Given the description of an element on the screen output the (x, y) to click on. 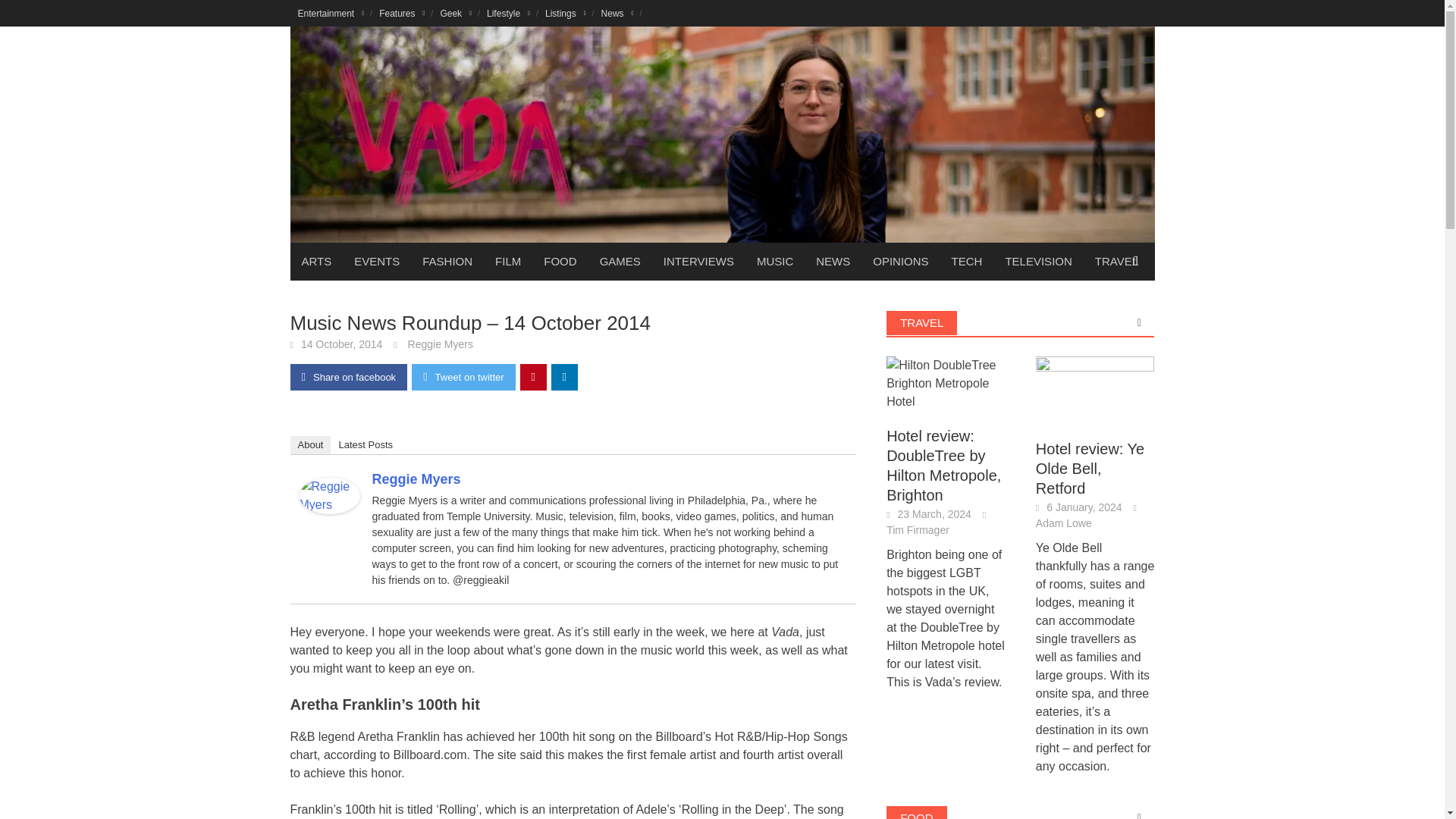
FOOD (560, 261)
Hotel review: DoubleTree by Hilton Metropole, Brighton (946, 383)
EVENTS (376, 261)
MUSIC (775, 261)
Geek (455, 13)
ARTS (315, 261)
Features (401, 13)
Hotel review: DoubleTree by Hilton Metropole, Brighton (946, 382)
FILM (507, 261)
Hotel review: Ye Olde Bell, Retford (1094, 390)
FASHION (446, 261)
GAMES (620, 261)
NEWS (833, 261)
Hotel review: Ye Olde Bell, Retford (1094, 389)
INTERVIEWS (698, 261)
